Given the description of an element on the screen output the (x, y) to click on. 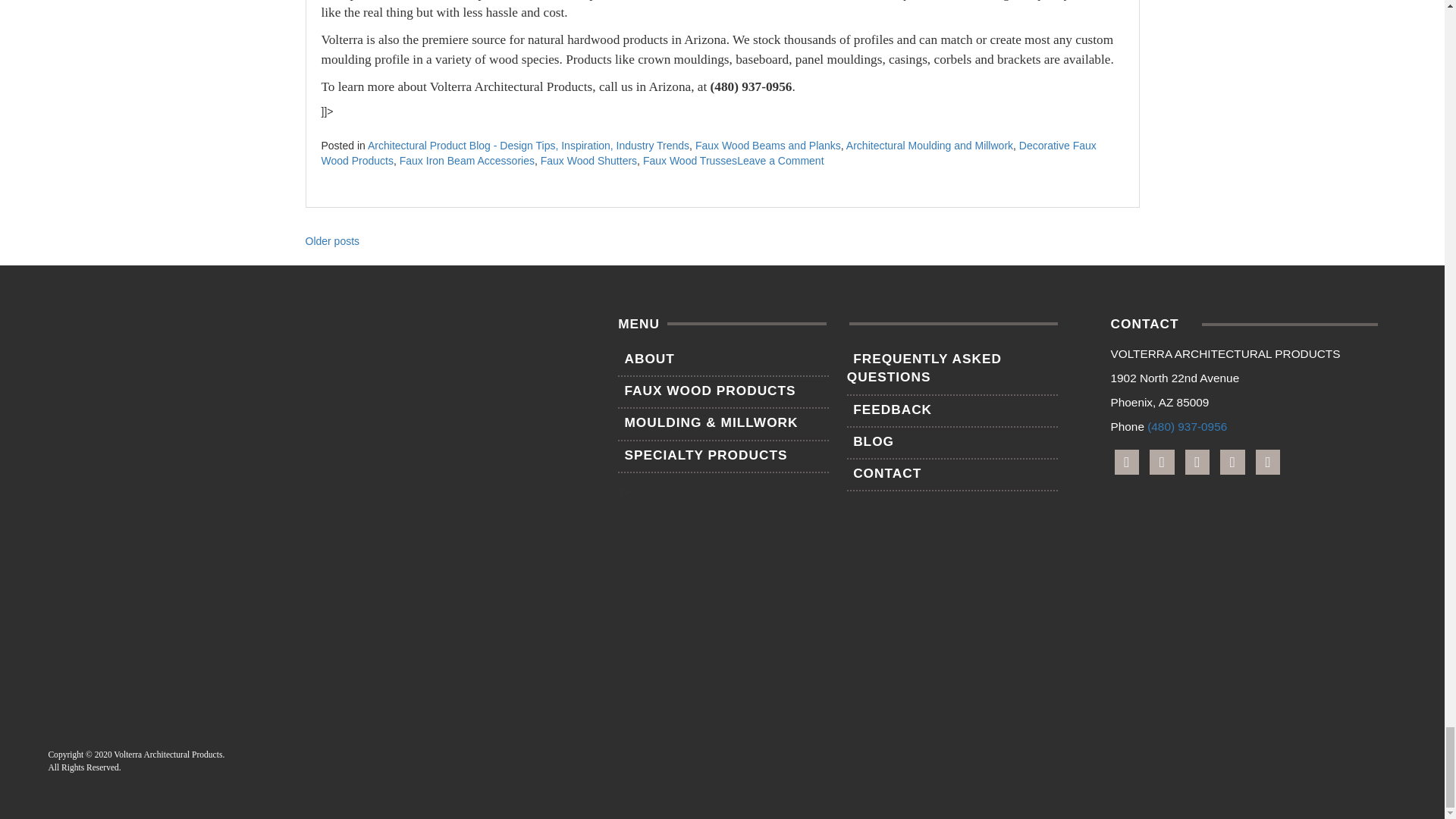
Call: 602-258-7373 (1187, 426)
